Given the description of an element on the screen output the (x, y) to click on. 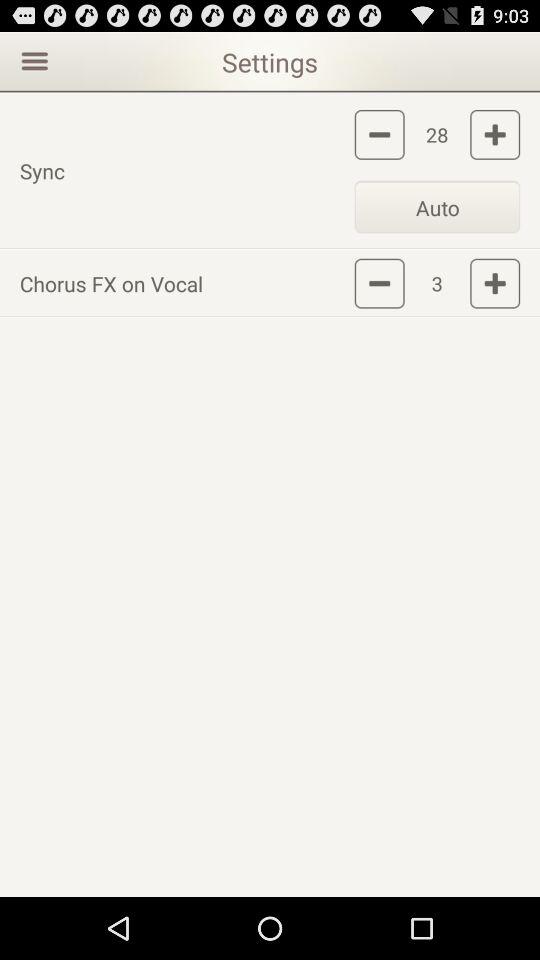
choose auto icon (437, 206)
